Given the description of an element on the screen output the (x, y) to click on. 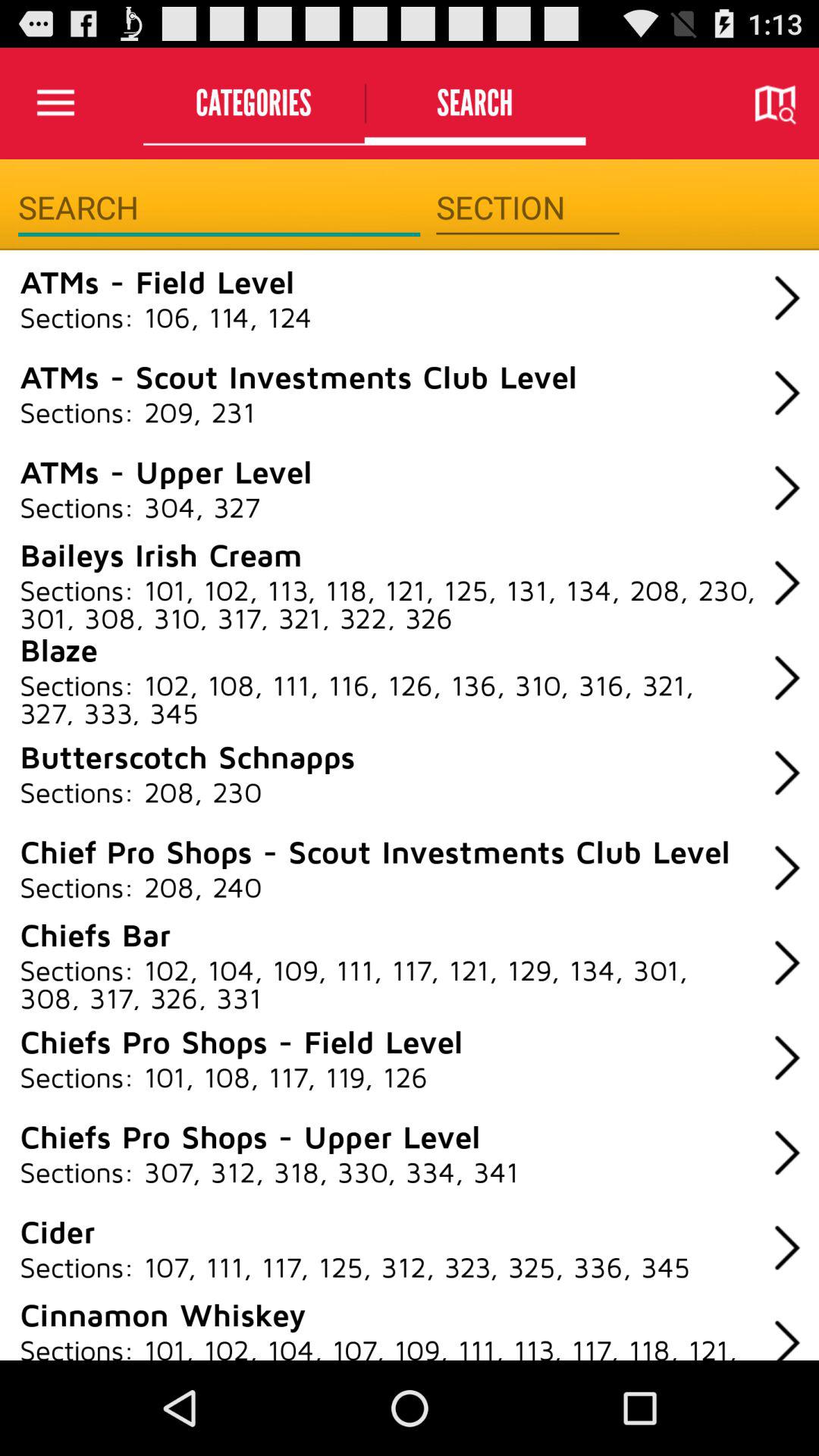
jump to baileys irish cream icon (160, 554)
